Given the description of an element on the screen output the (x, y) to click on. 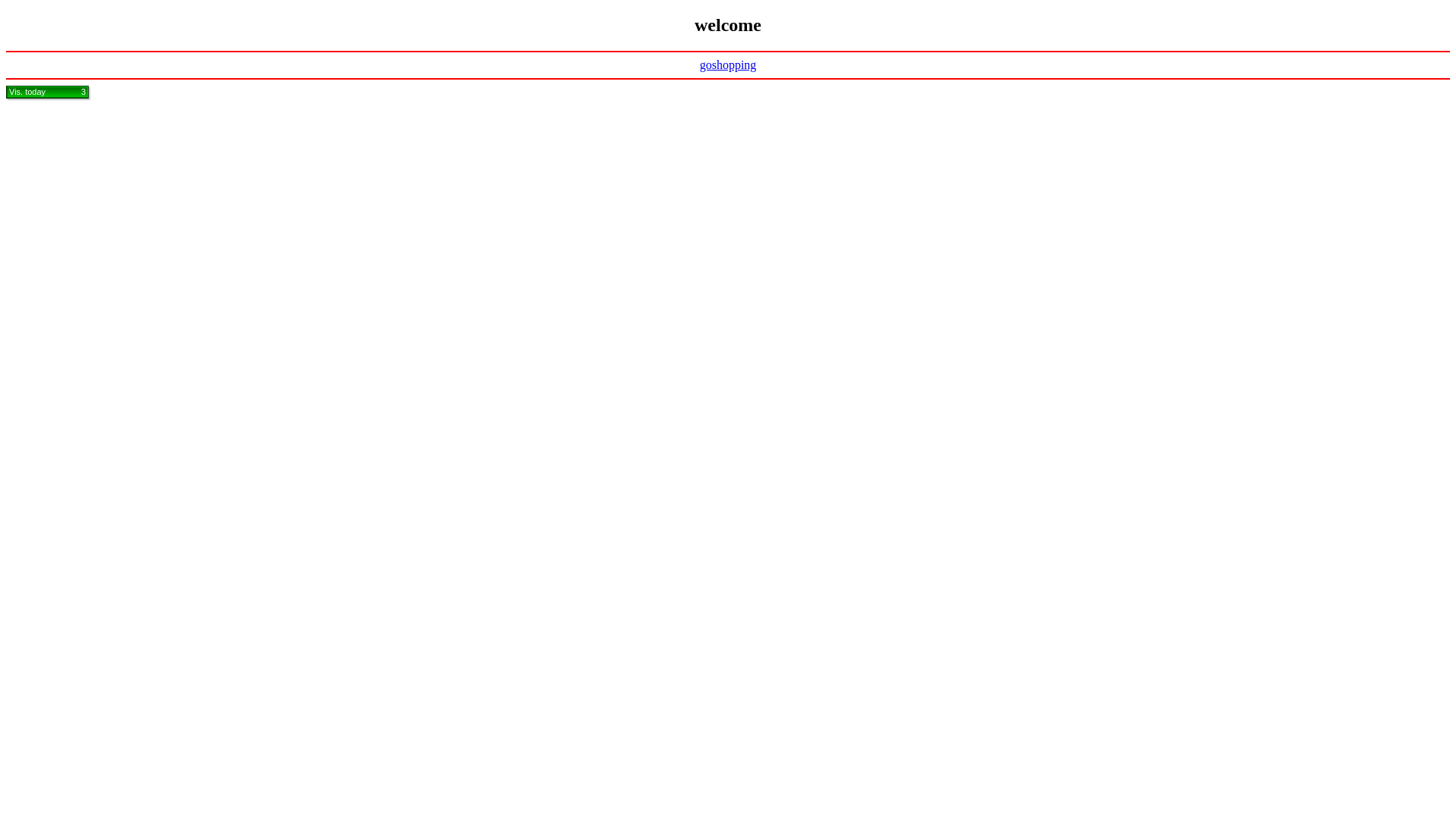
goshopping Element type: text (727, 64)
